Given the description of an element on the screen output the (x, y) to click on. 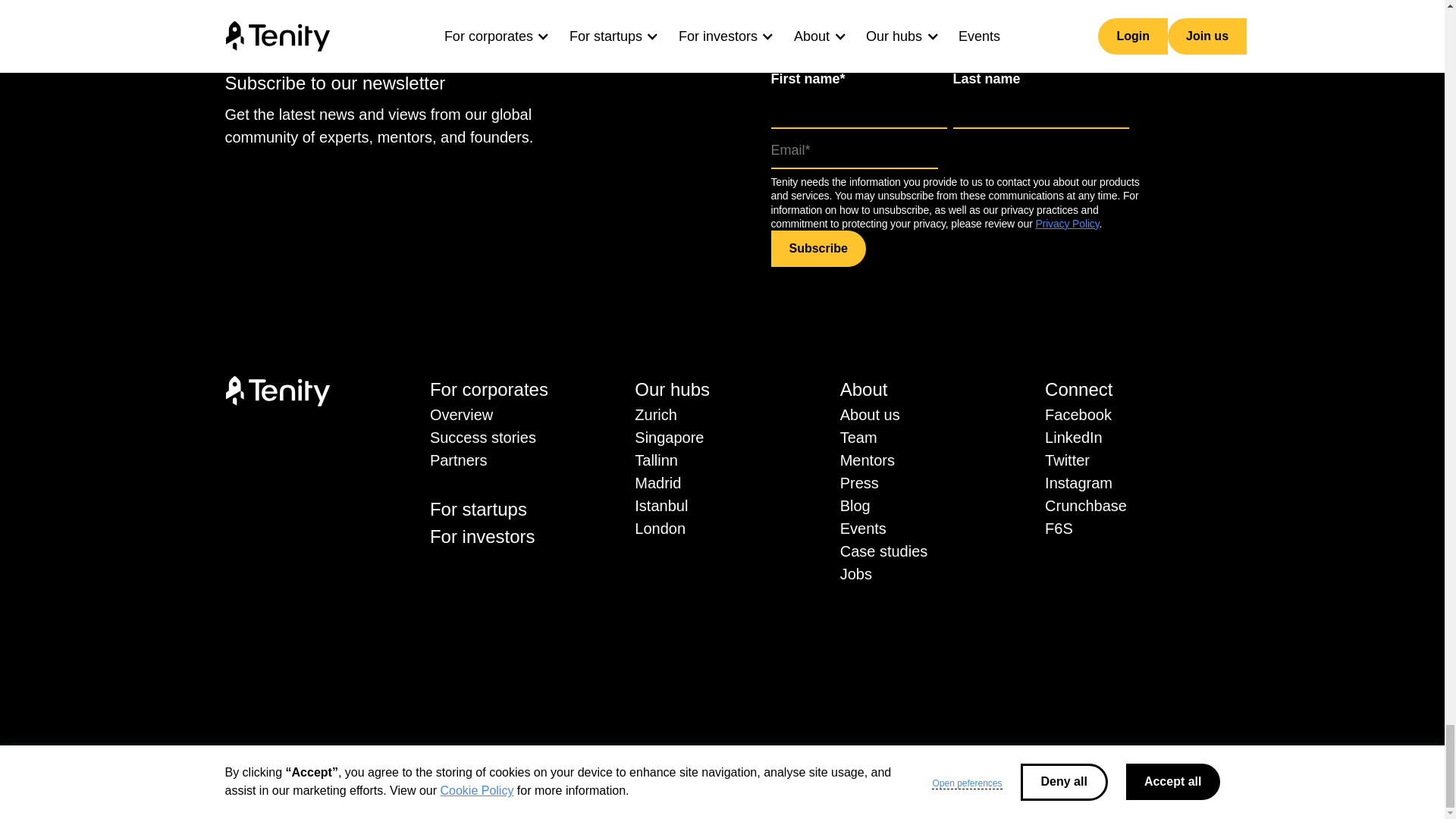
Subscribe (817, 248)
